Given the description of an element on the screen output the (x, y) to click on. 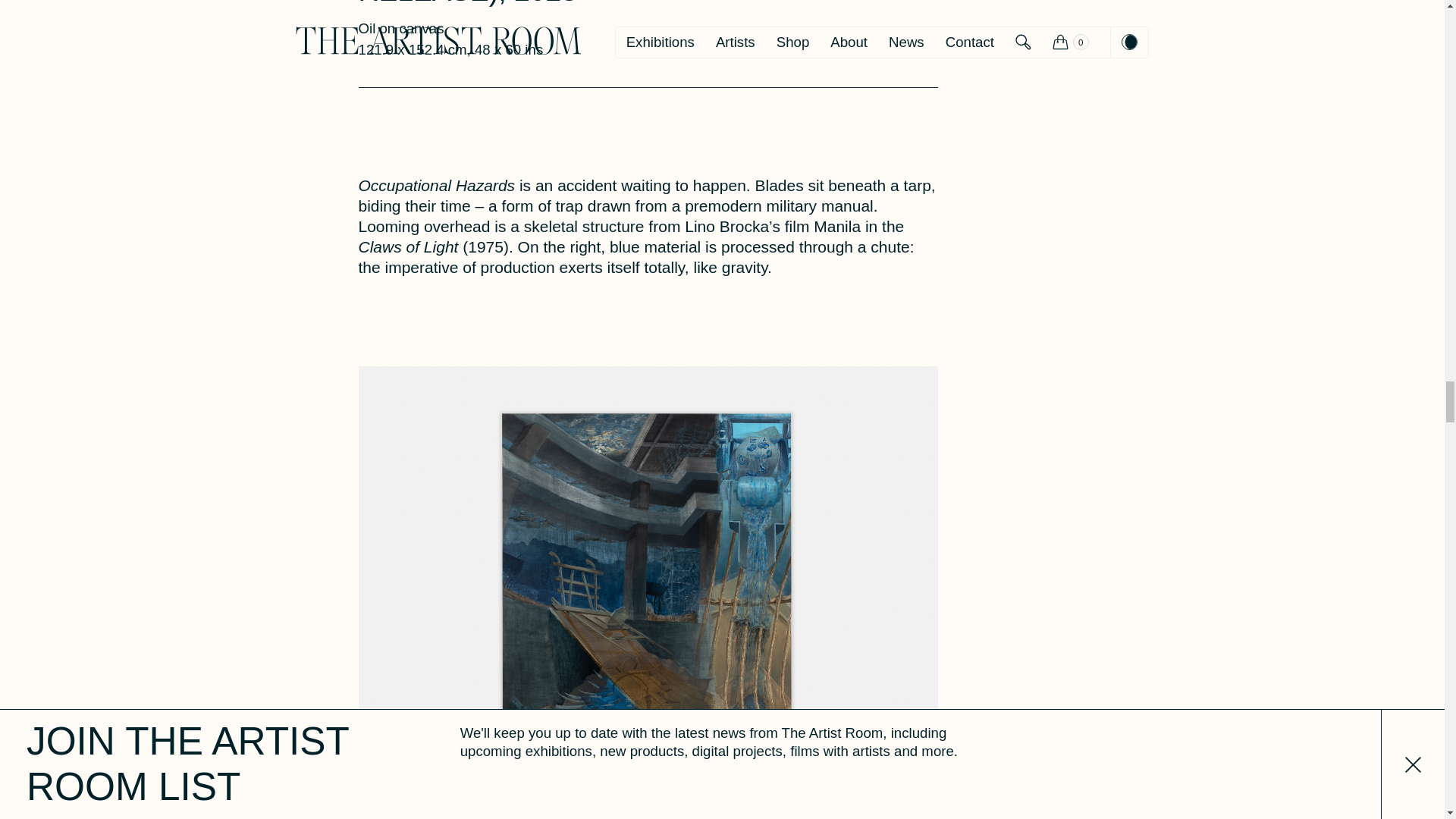
Page 2 (647, 226)
